Given the description of an element on the screen output the (x, y) to click on. 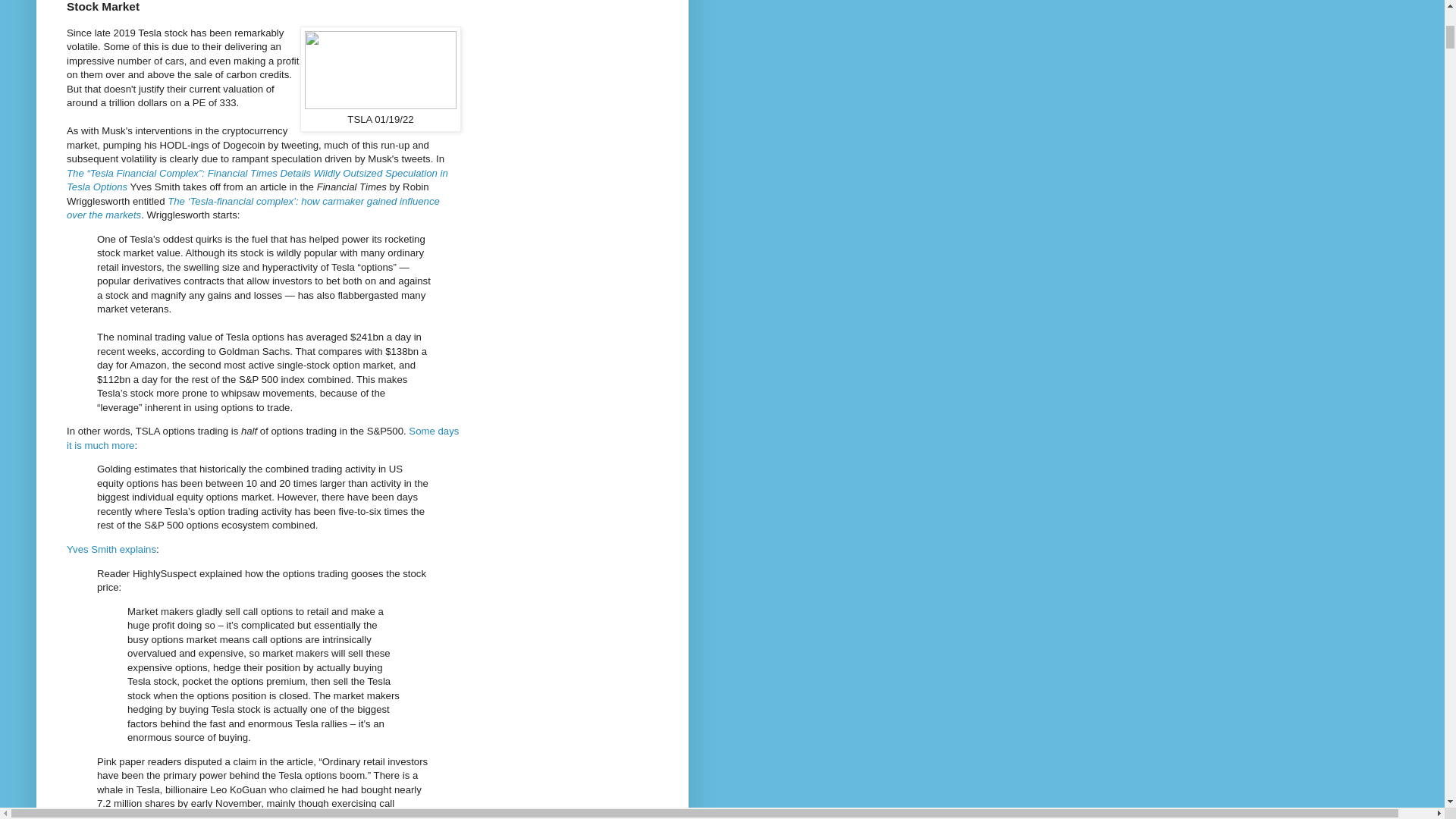
Some days it is much more (262, 437)
Yves Smith explains (110, 549)
